Given the description of an element on the screen output the (x, y) to click on. 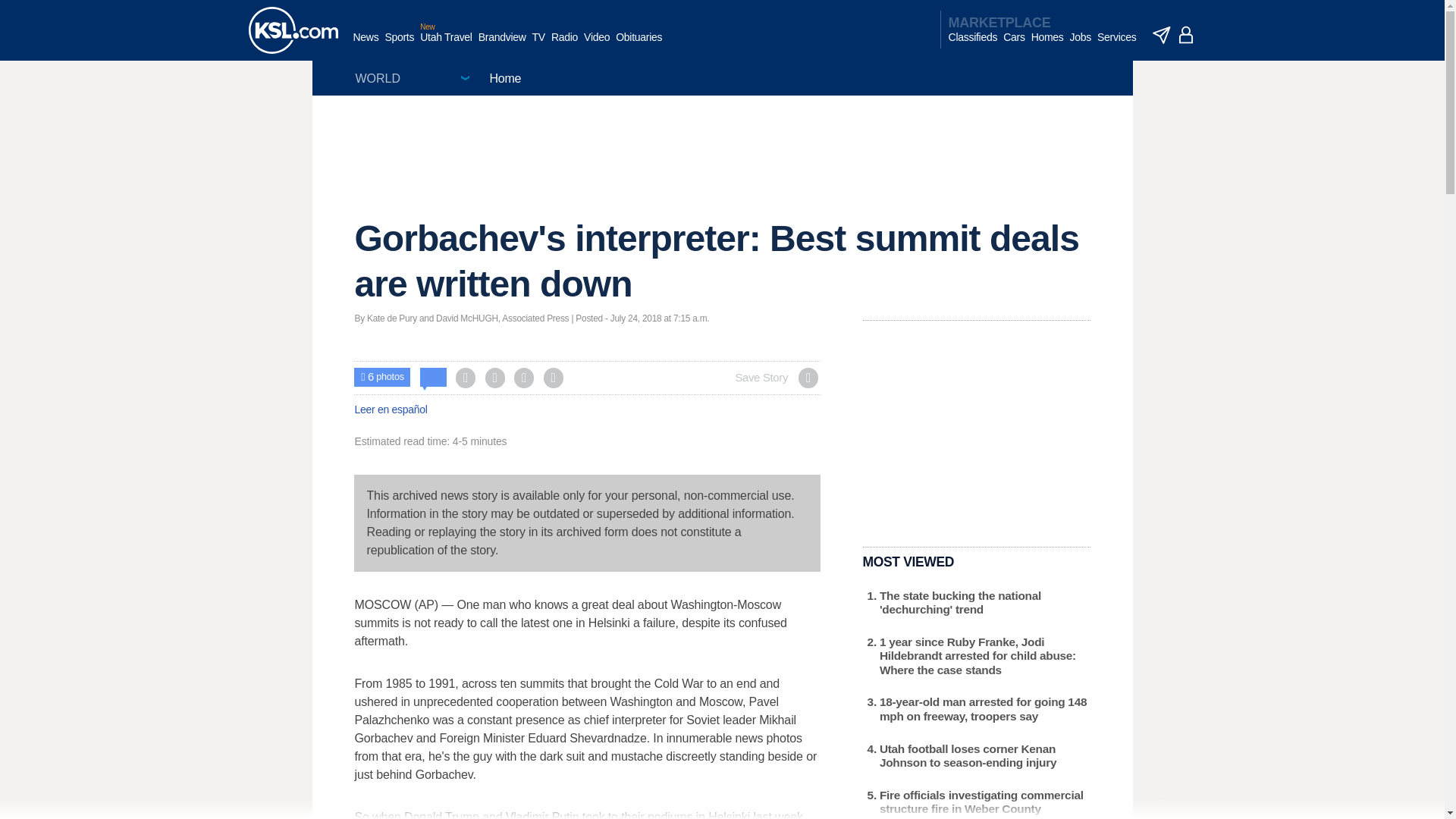
Sports (398, 45)
Brandview (502, 45)
KSL homepage (292, 30)
Utah Travel (445, 45)
account - logged out (1185, 34)
KSL homepage (292, 29)
